Given the description of an element on the screen output the (x, y) to click on. 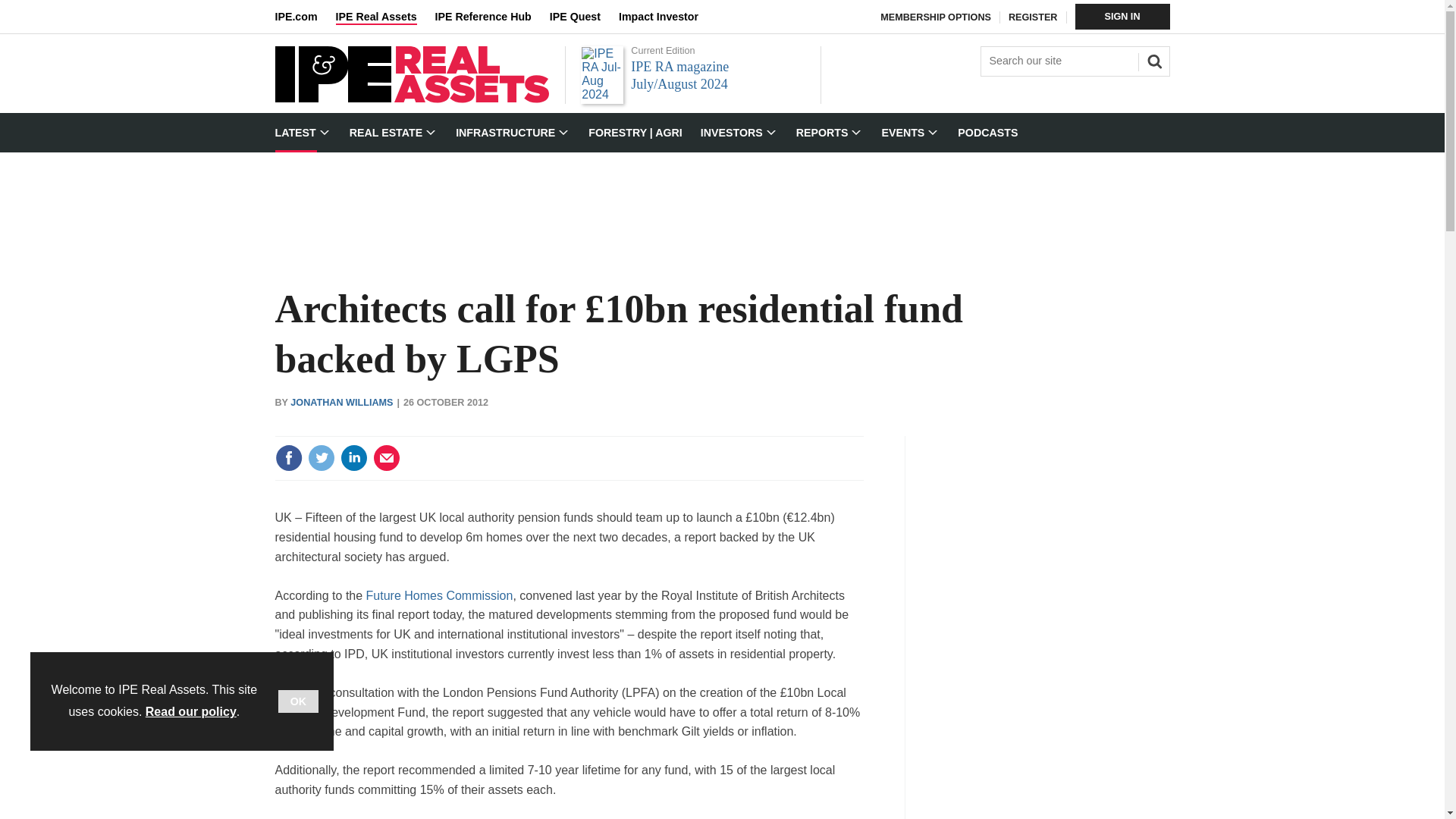
OK (298, 701)
Email this article (386, 457)
Share this on Facebook (288, 457)
SEARCH (1152, 59)
MEMBERSHIP OPTIONS (935, 17)
IPE Reference Hub (491, 16)
IPE Quest (583, 16)
Impact Investor (667, 16)
IPE Reference Hub (491, 16)
Share this on Linked in (352, 457)
Impact Investor (667, 16)
IPE.com (304, 16)
REGISTER (1033, 17)
SIGN IN (1122, 16)
IPE Quest (583, 16)
